Given the description of an element on the screen output the (x, y) to click on. 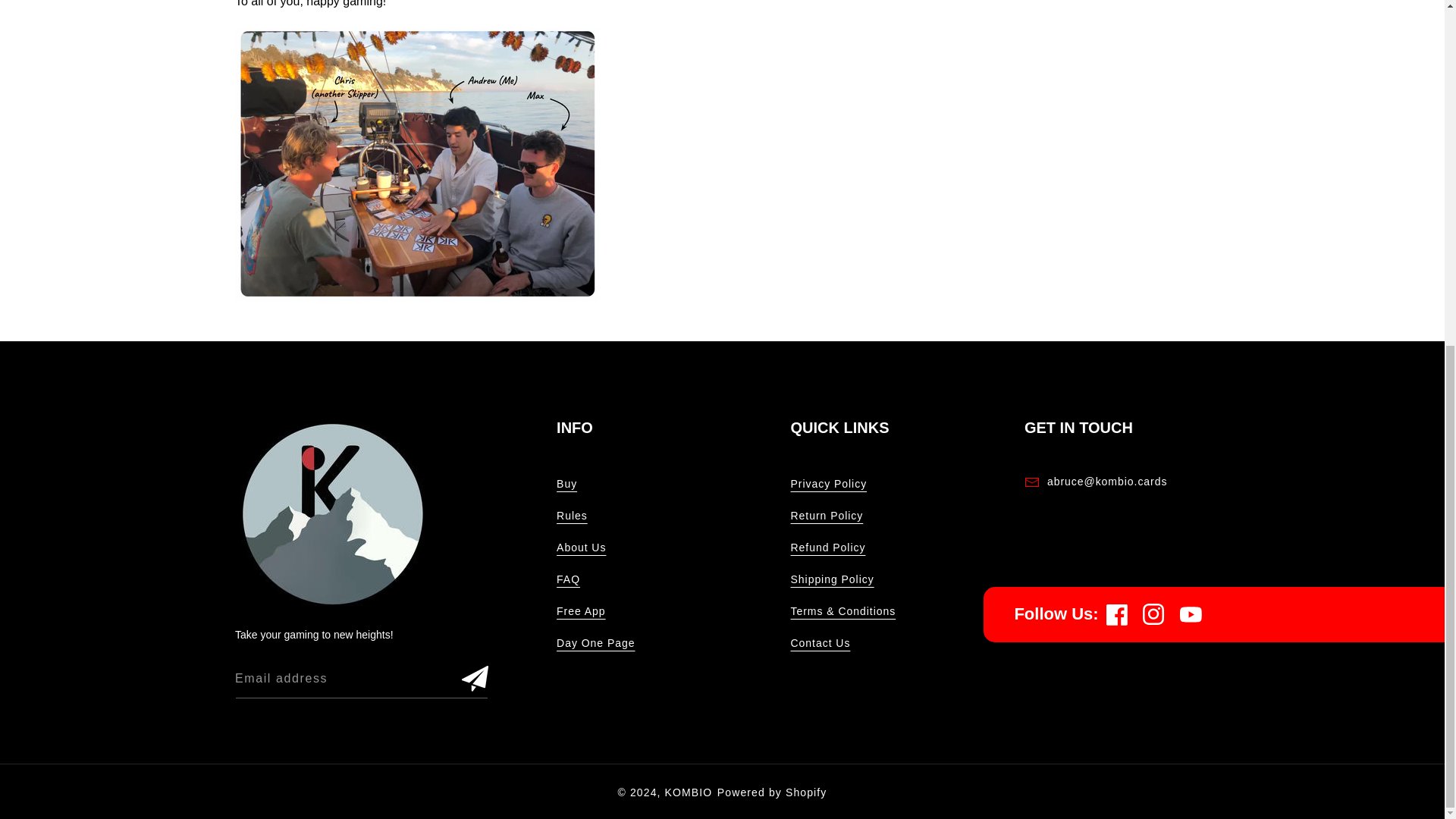
Send (474, 678)
Refund Policy (828, 547)
Contact Us (820, 643)
Shipping Policy (832, 579)
Free App (580, 611)
About Us (580, 547)
Day One Page (595, 643)
Rules (572, 515)
Return Policy (826, 515)
Privacy Policy (828, 483)
